Given the description of an element on the screen output the (x, y) to click on. 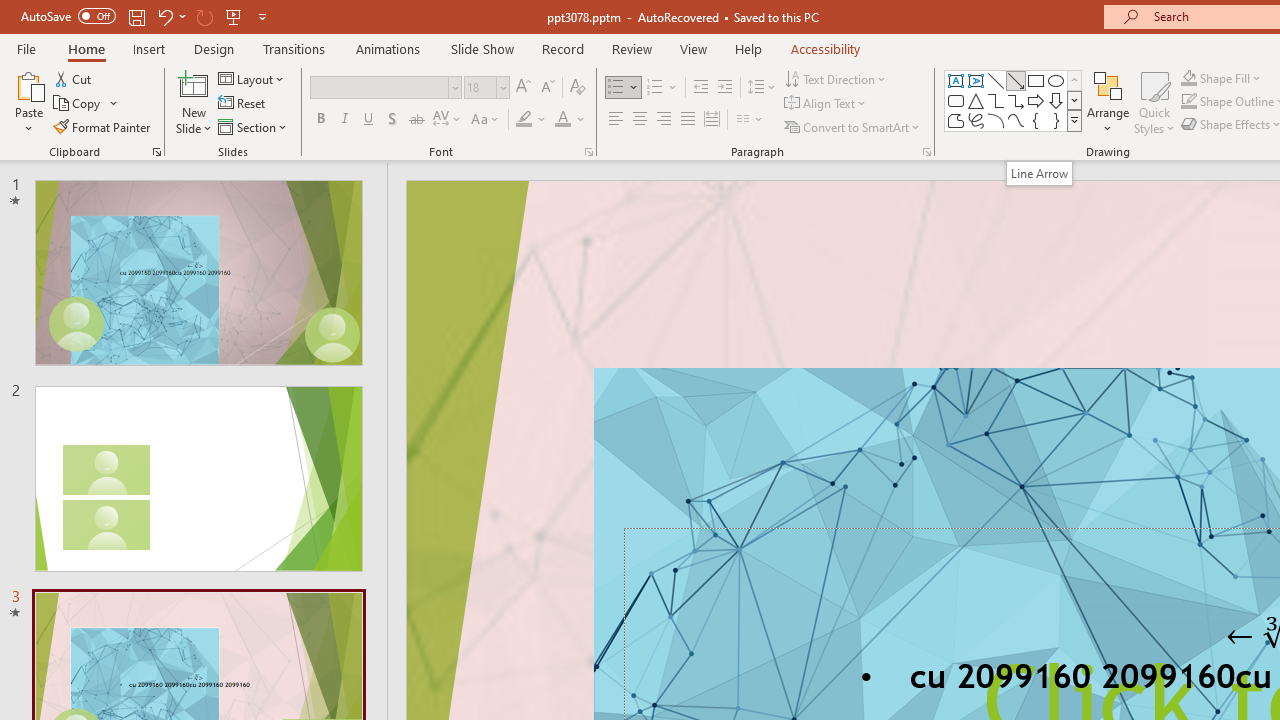
Decrease Indent (700, 87)
Columns (750, 119)
Character Spacing (447, 119)
